Given the description of an element on the screen output the (x, y) to click on. 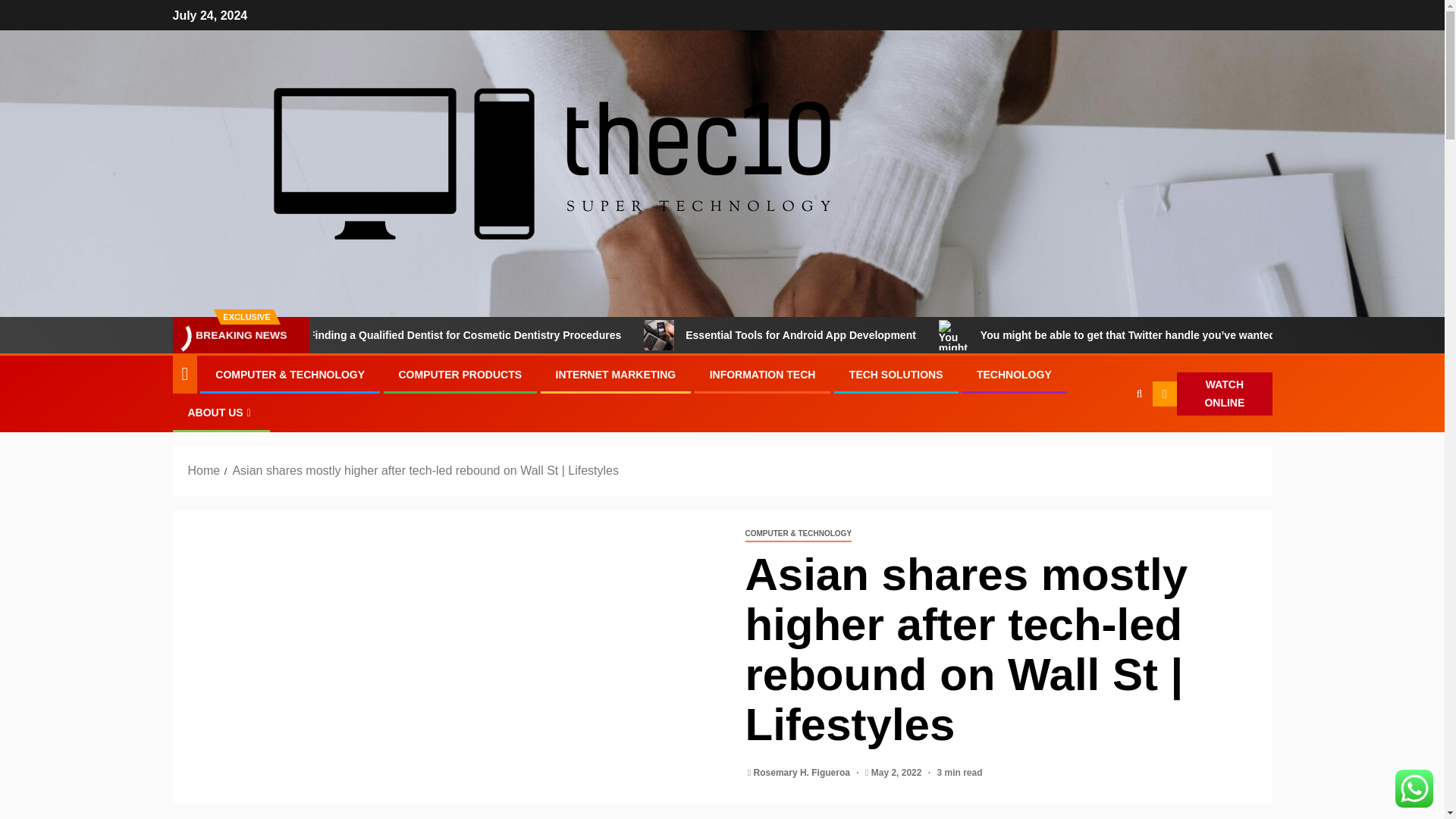
Essential Tools for Android App Development (924, 335)
TECHNOLOGY (1013, 374)
COMPUTER PRODUCTS (460, 374)
Essential Tools for Android App Development (753, 335)
WATCH ONLINE (1212, 394)
Search (1109, 440)
INFORMATION TECH (762, 374)
Home (204, 470)
ABOUT US (220, 412)
Rosemary H. Figueroa (803, 772)
TECH SOLUTIONS (895, 374)
INTERNET MARKETING (616, 374)
